Given the description of an element on the screen output the (x, y) to click on. 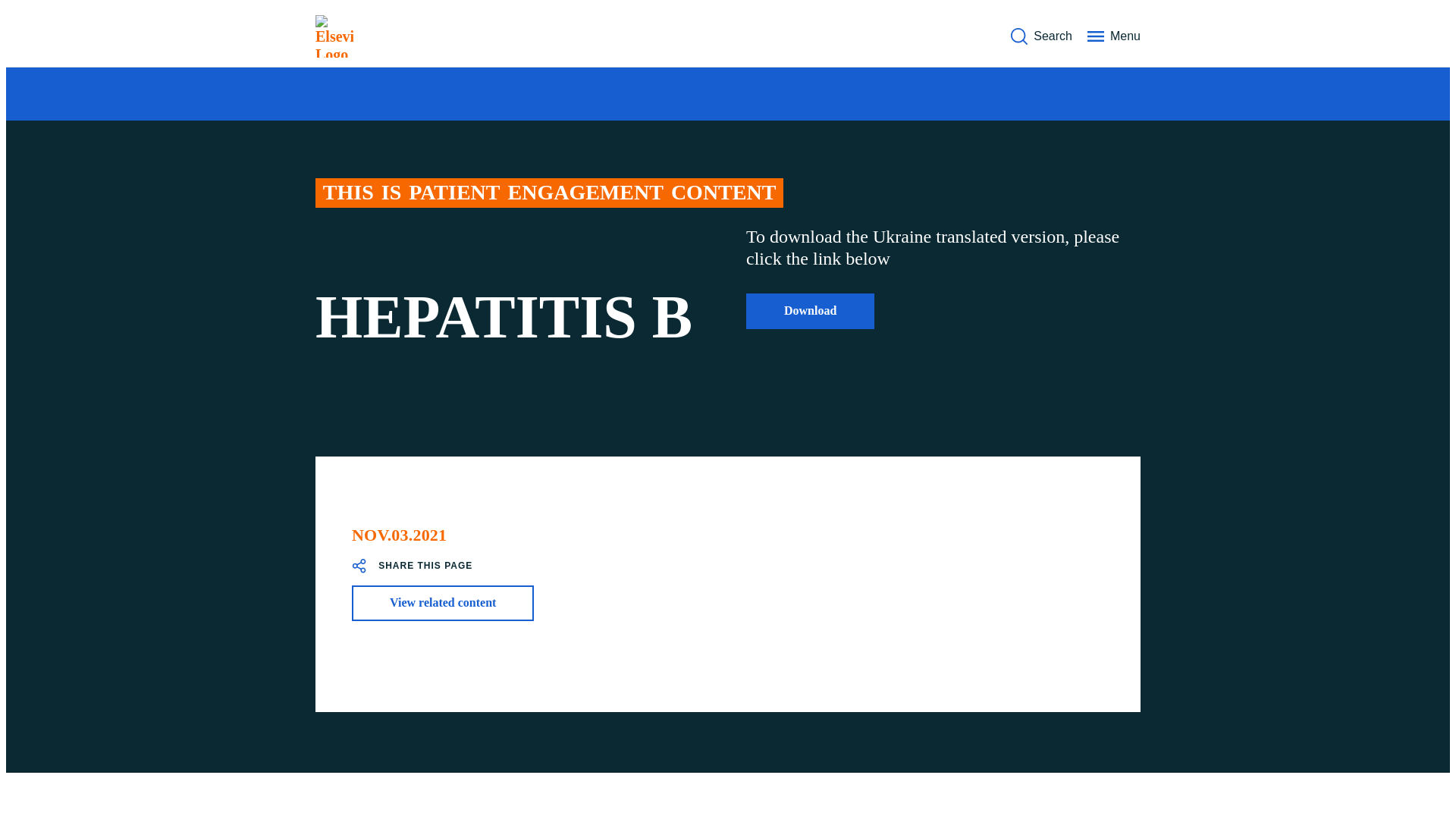
View related content (443, 602)
Search (1040, 35)
Download (810, 310)
SHARE THIS PAGE (411, 565)
Menu (1113, 35)
